Given the description of an element on the screen output the (x, y) to click on. 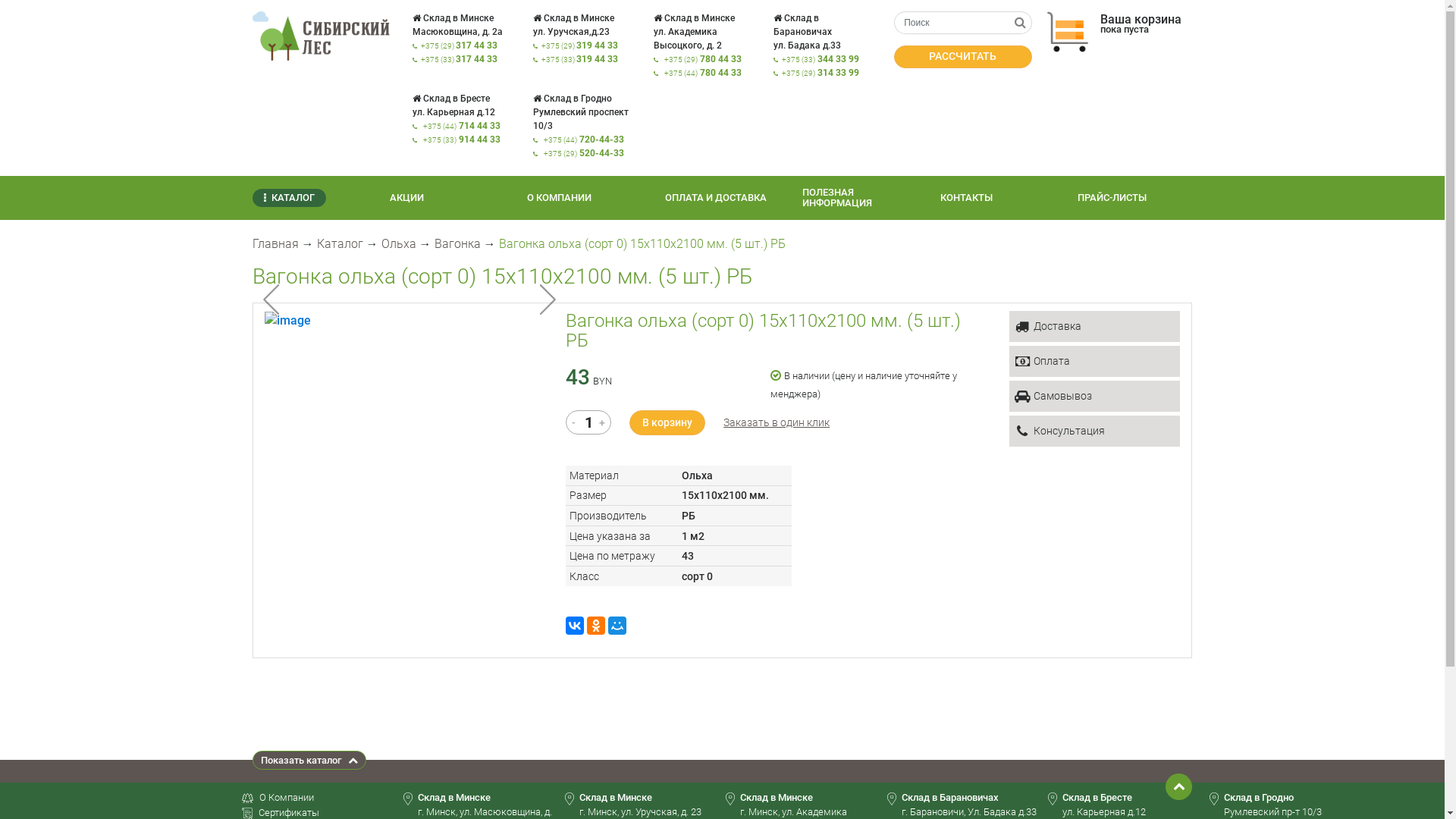
+375 (44) 720-44-33 Element type: text (583, 139)
+375 (44) 780 44 33 Element type: text (702, 72)
+375 (29) 780 44 33 Element type: text (702, 58)
+375 (33) 319 44 33 Element type: text (579, 58)
+375 (33) 344 33 99 Element type: text (820, 58)
+375 (44) 714 44 33 Element type: text (461, 125)
+375 (29) 520-44-33 Element type: text (583, 152)
+375 (33) 914 44 33 Element type: text (461, 139)
+375 (29) 317 44 33 Element type: text (458, 45)
+375 (33) 317 44 33 Element type: text (458, 58)
+375 (29) 314 33 99 Element type: text (820, 72)
+375 (29) 319 44 33 Element type: text (579, 45)
